Given the description of an element on the screen output the (x, y) to click on. 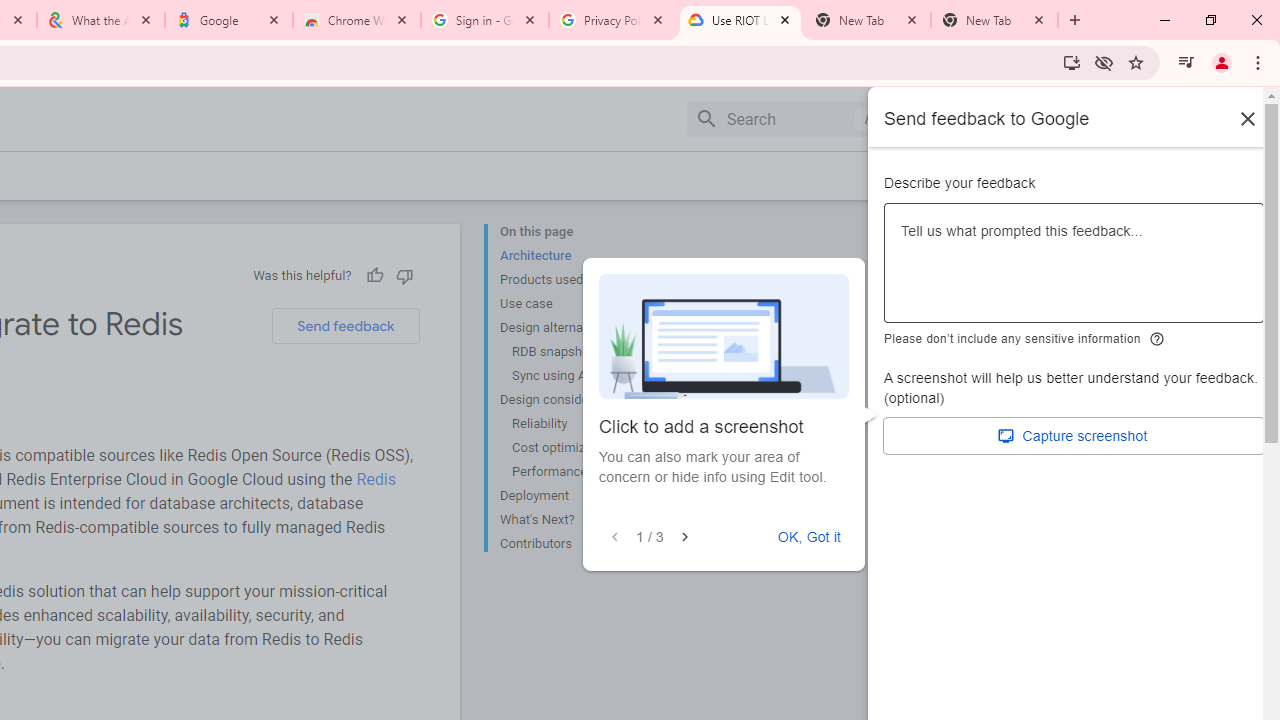
New Tab (994, 20)
Contact Us (1050, 175)
Sign in - Google Accounts (485, 20)
Architecture (580, 255)
Contributors (580, 542)
Docs, selected (942, 119)
Previous (614, 537)
Cost optimization (585, 448)
